Given the description of an element on the screen output the (x, y) to click on. 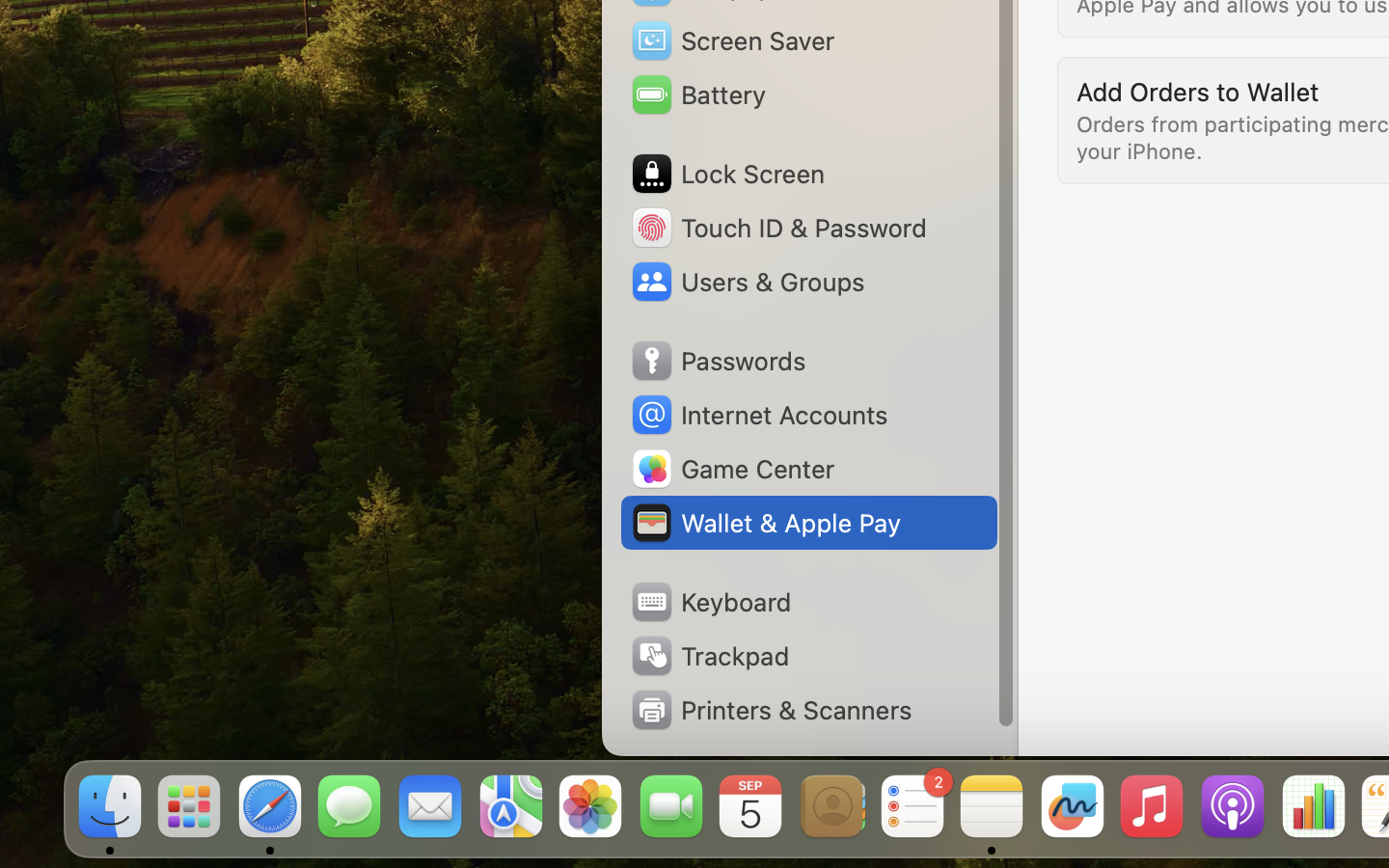
Screen Saver Element type: AXStaticText (731, 40)
Touch ID & Password Element type: AXStaticText (777, 227)
Wallet & Apple Pay Element type: AXStaticText (764, 522)
